Given the description of an element on the screen output the (x, y) to click on. 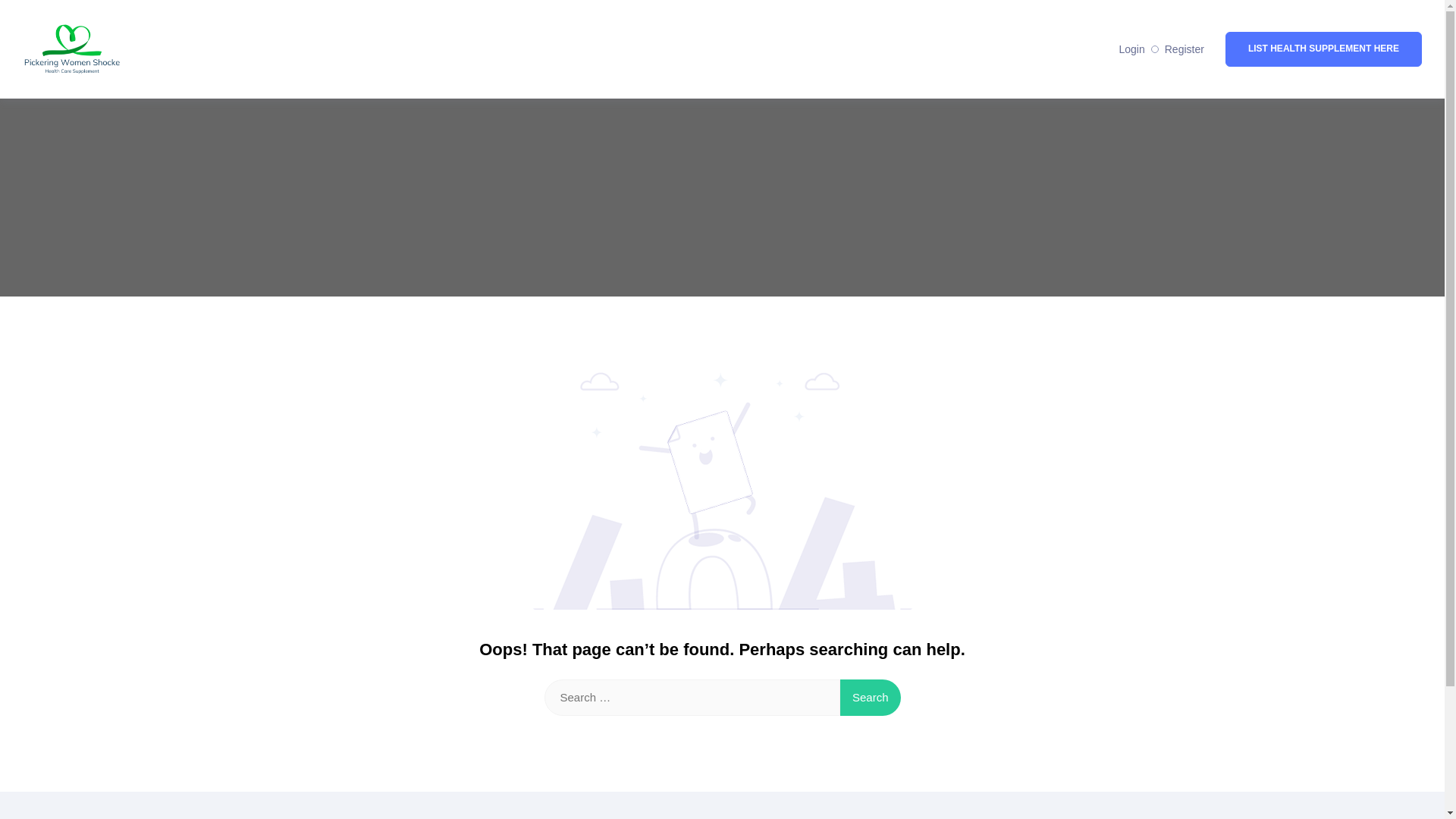
Search (870, 697)
Search (870, 697)
Register (1184, 49)
Login (1131, 49)
Search (870, 697)
LIST HEALTH SUPPLEMENT HERE (1323, 48)
